Given the description of an element on the screen output the (x, y) to click on. 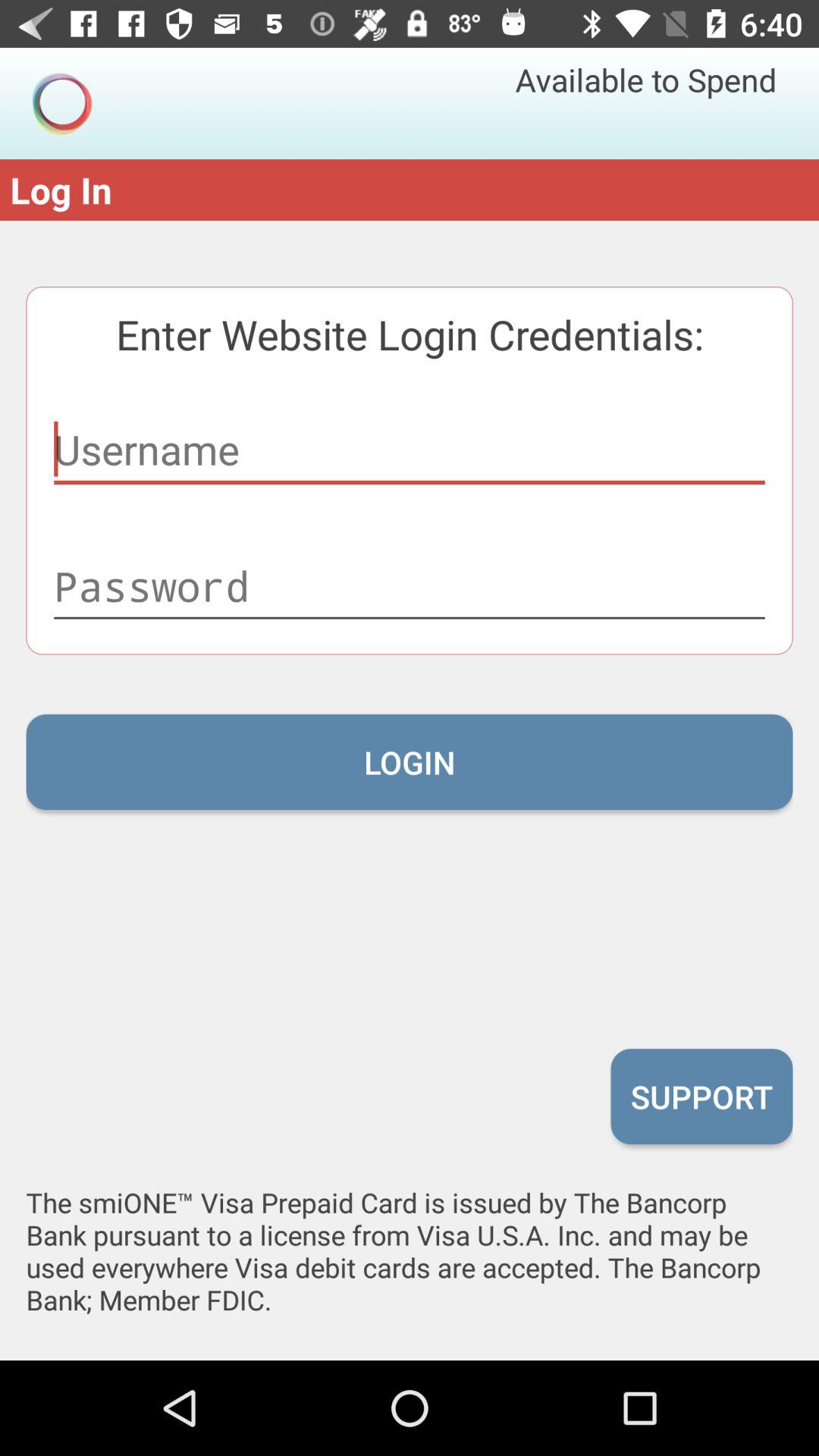
turn off item below enter website login icon (409, 449)
